Given the description of an element on the screen output the (x, y) to click on. 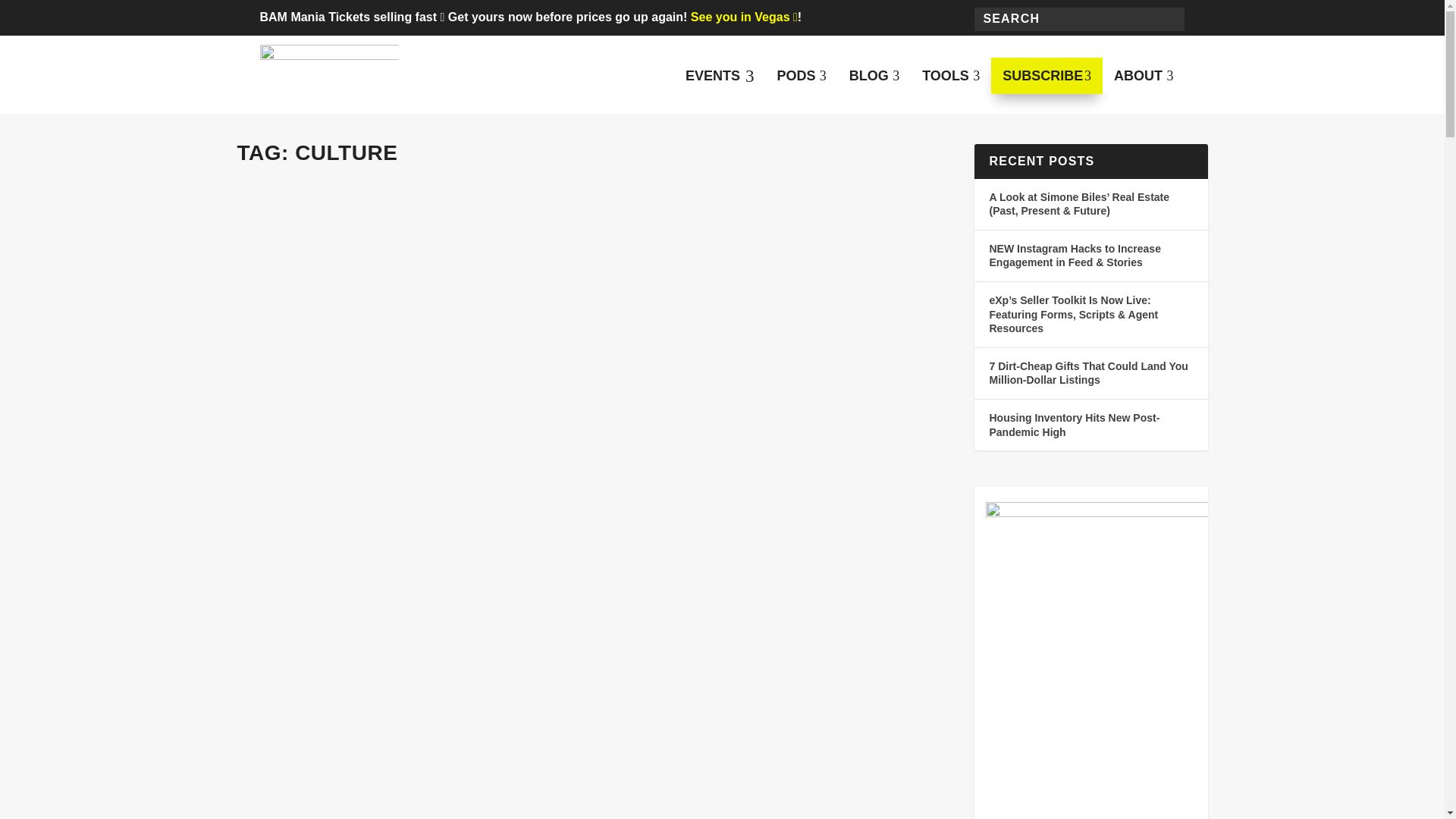
Search (874, 75)
